Given the description of an element on the screen output the (x, y) to click on. 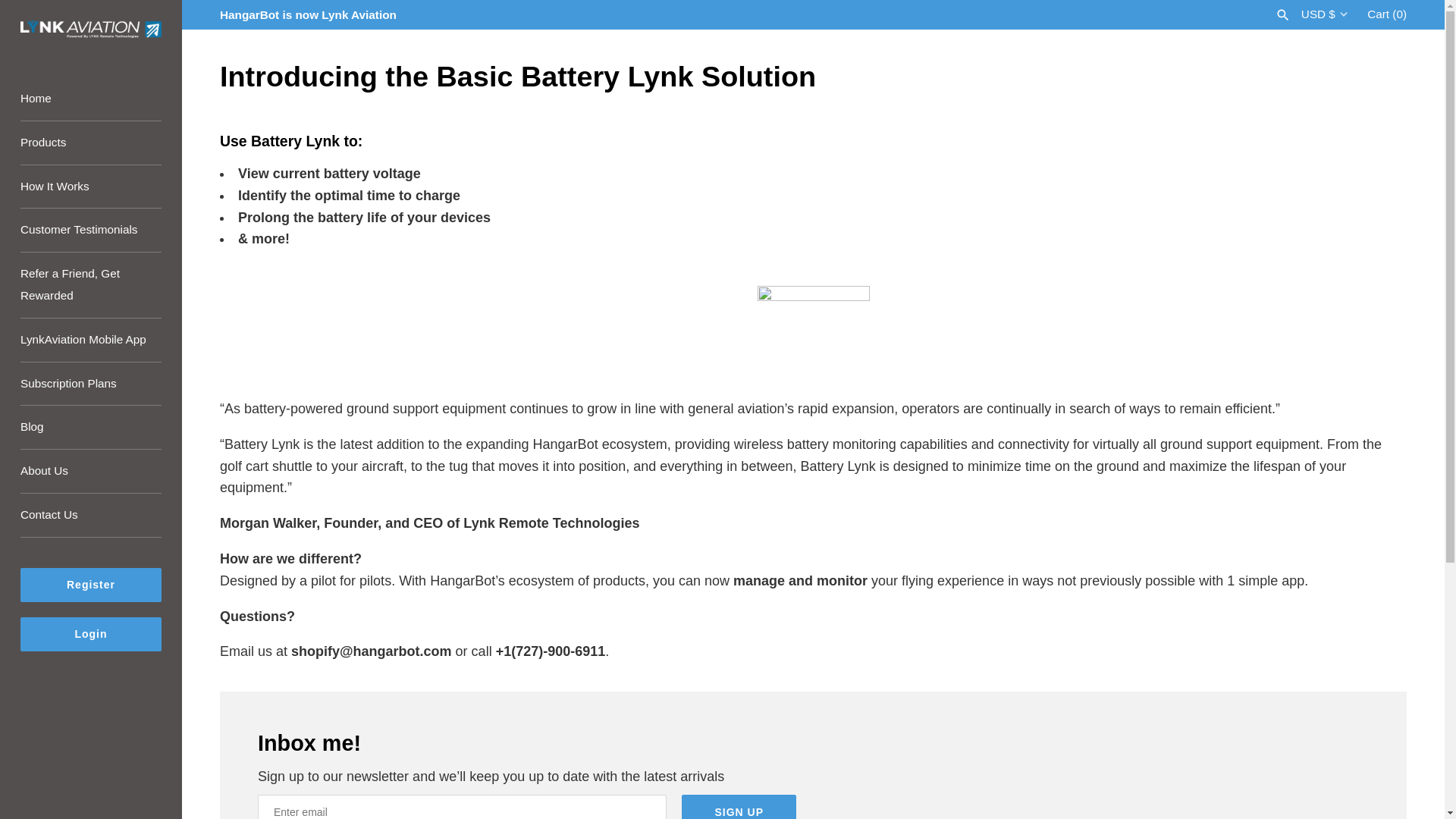
HangarBot is now Lynk Aviation (307, 14)
HangarBot (91, 30)
